Given the description of an element on the screen output the (x, y) to click on. 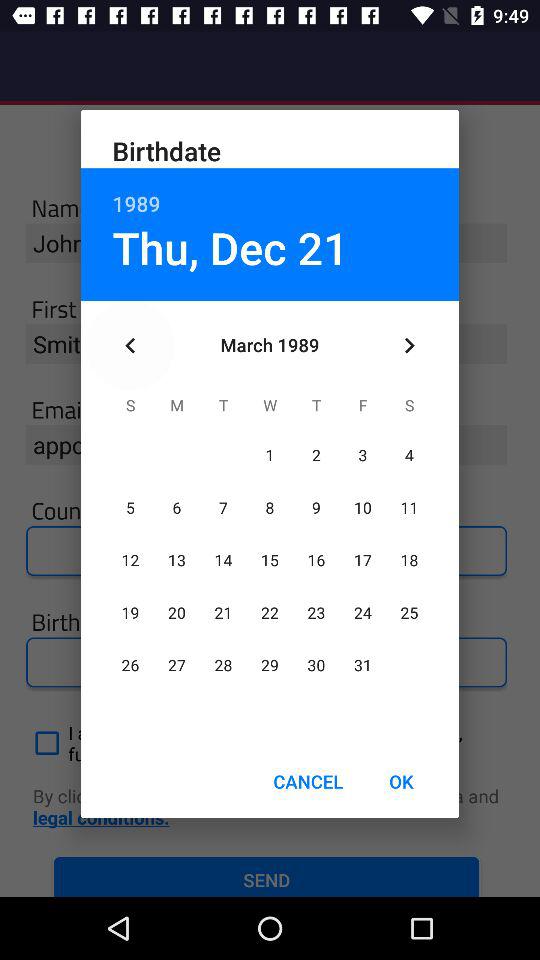
swipe until the thu, dec 21 (230, 247)
